Given the description of an element on the screen output the (x, y) to click on. 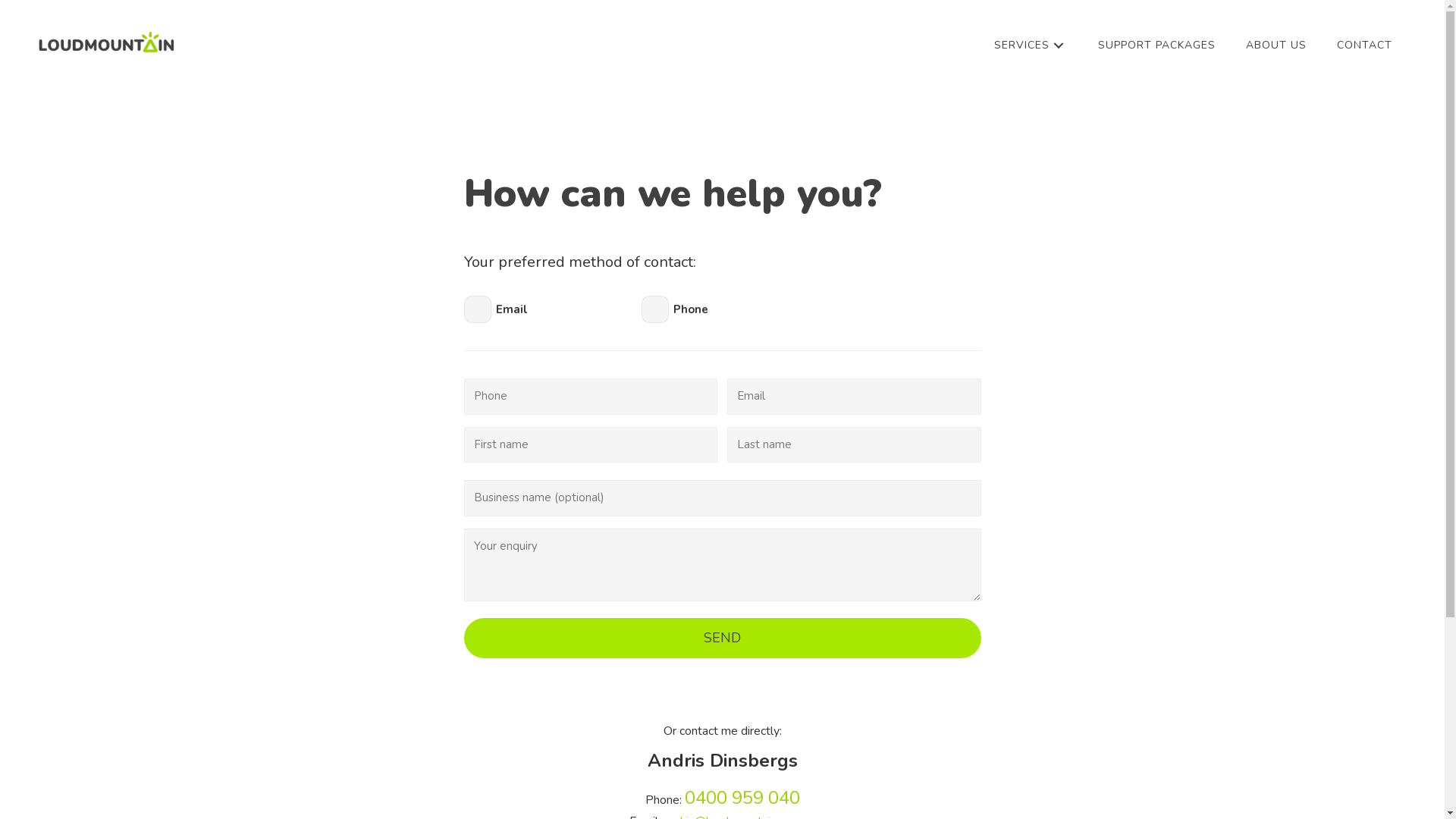
0400 959 040 Element type: text (741, 799)
ABOUT US Element type: text (1276, 45)
CONTACT Element type: text (1364, 45)
SUPPORT PACKAGES Element type: text (1156, 45)
SERVICES Element type: text (1030, 45)
Send Element type: text (722, 638)
Loud Mountain Element type: hover (105, 41)
